Given the description of an element on the screen output the (x, y) to click on. 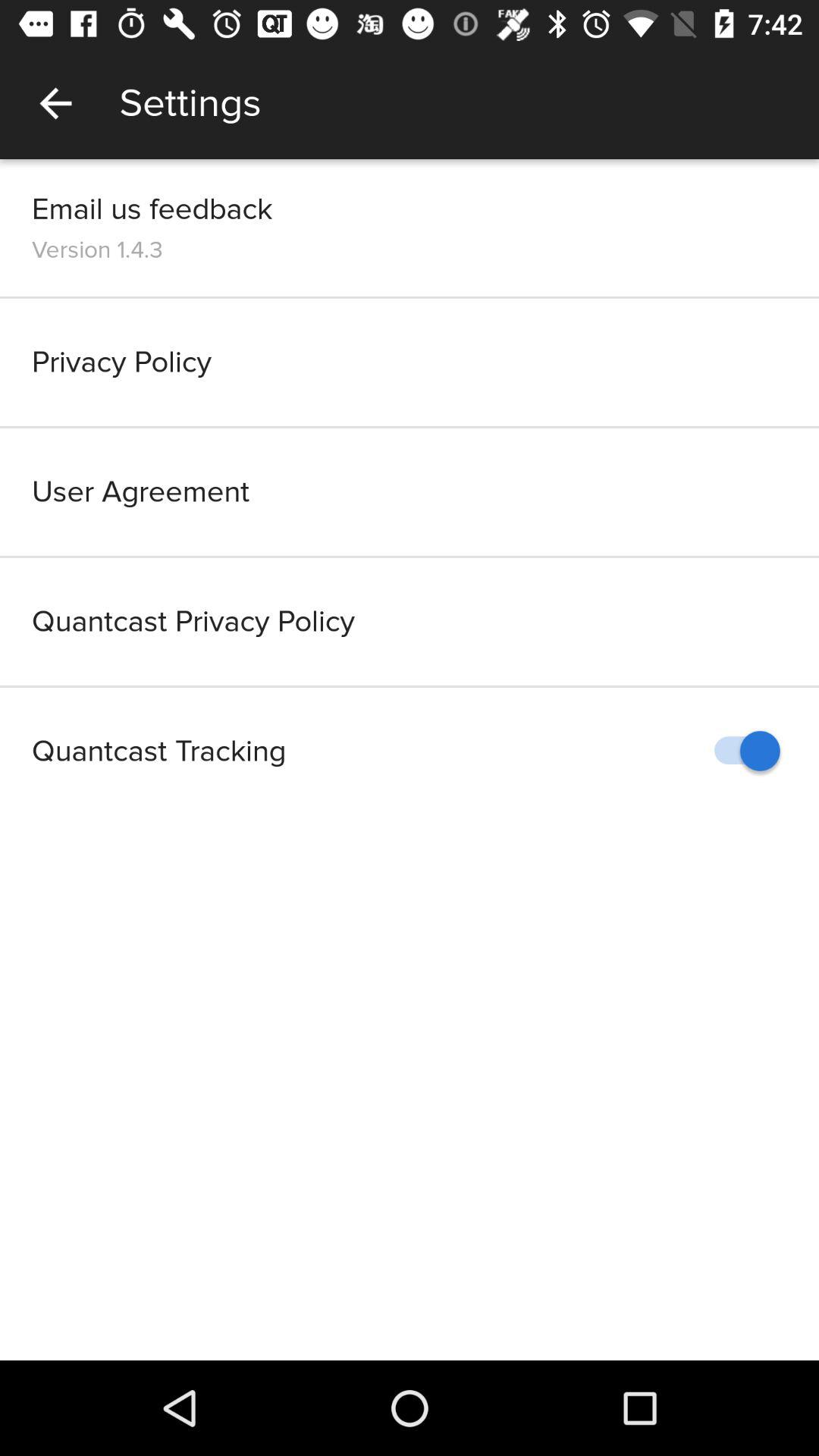
turn on the icon below quantcast privacy policy icon (739, 751)
